Given the description of an element on the screen output the (x, y) to click on. 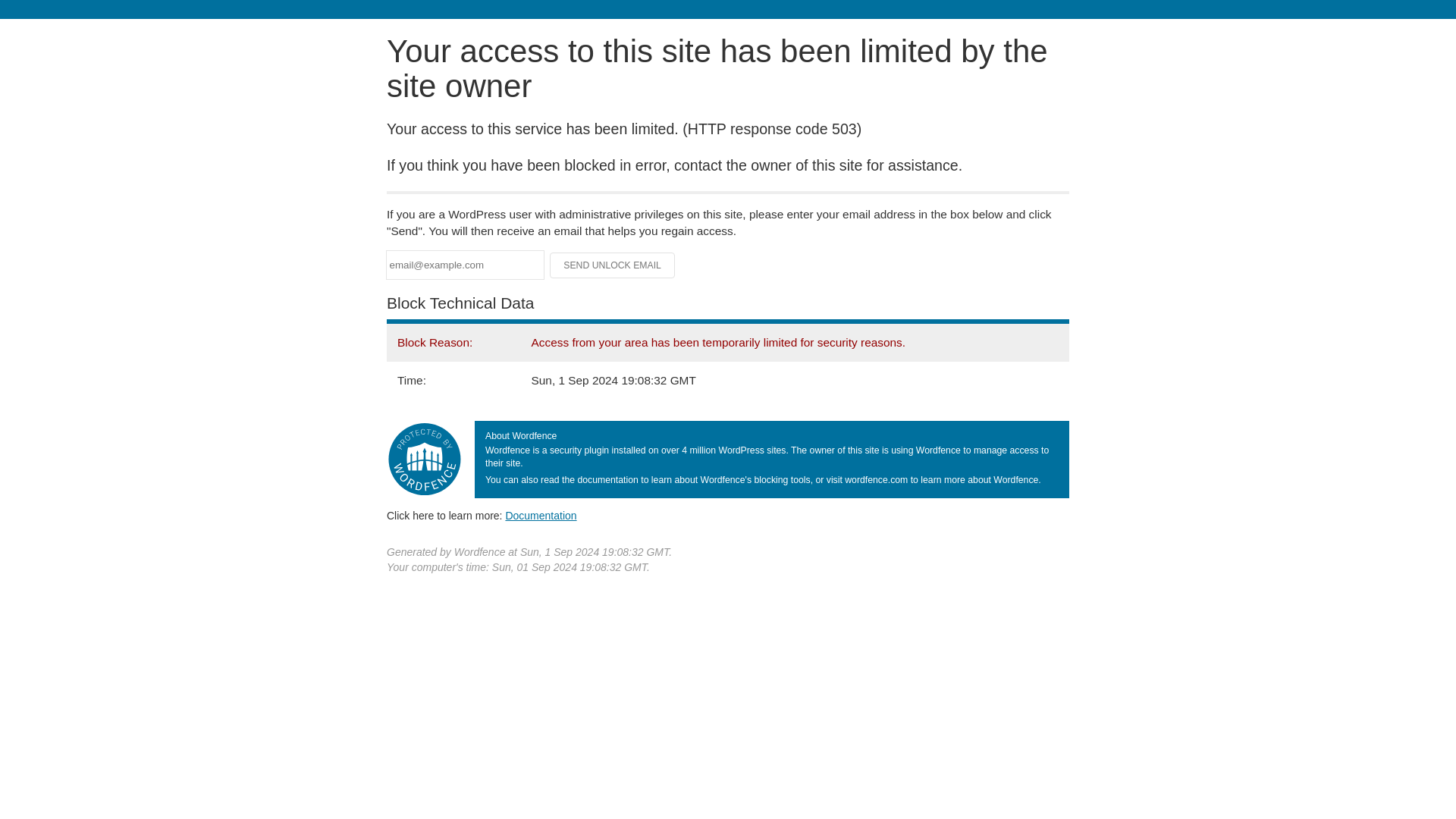
Documentation (540, 515)
Send Unlock Email (612, 265)
Send Unlock Email (612, 265)
